Given the description of an element on the screen output the (x, y) to click on. 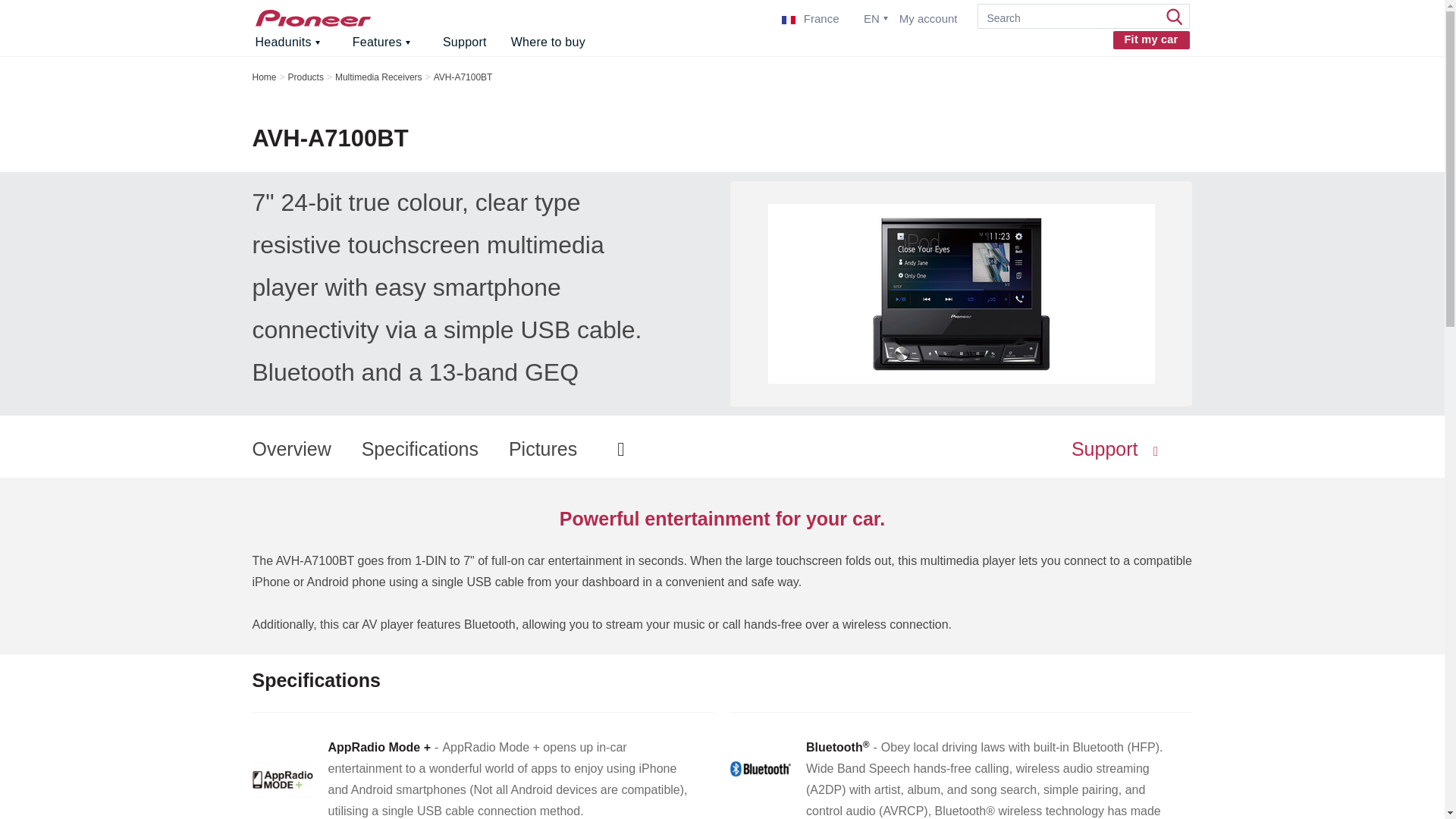
Home (311, 17)
Show all (16, 17)
Log in (496, 158)
